Given the description of an element on the screen output the (x, y) to click on. 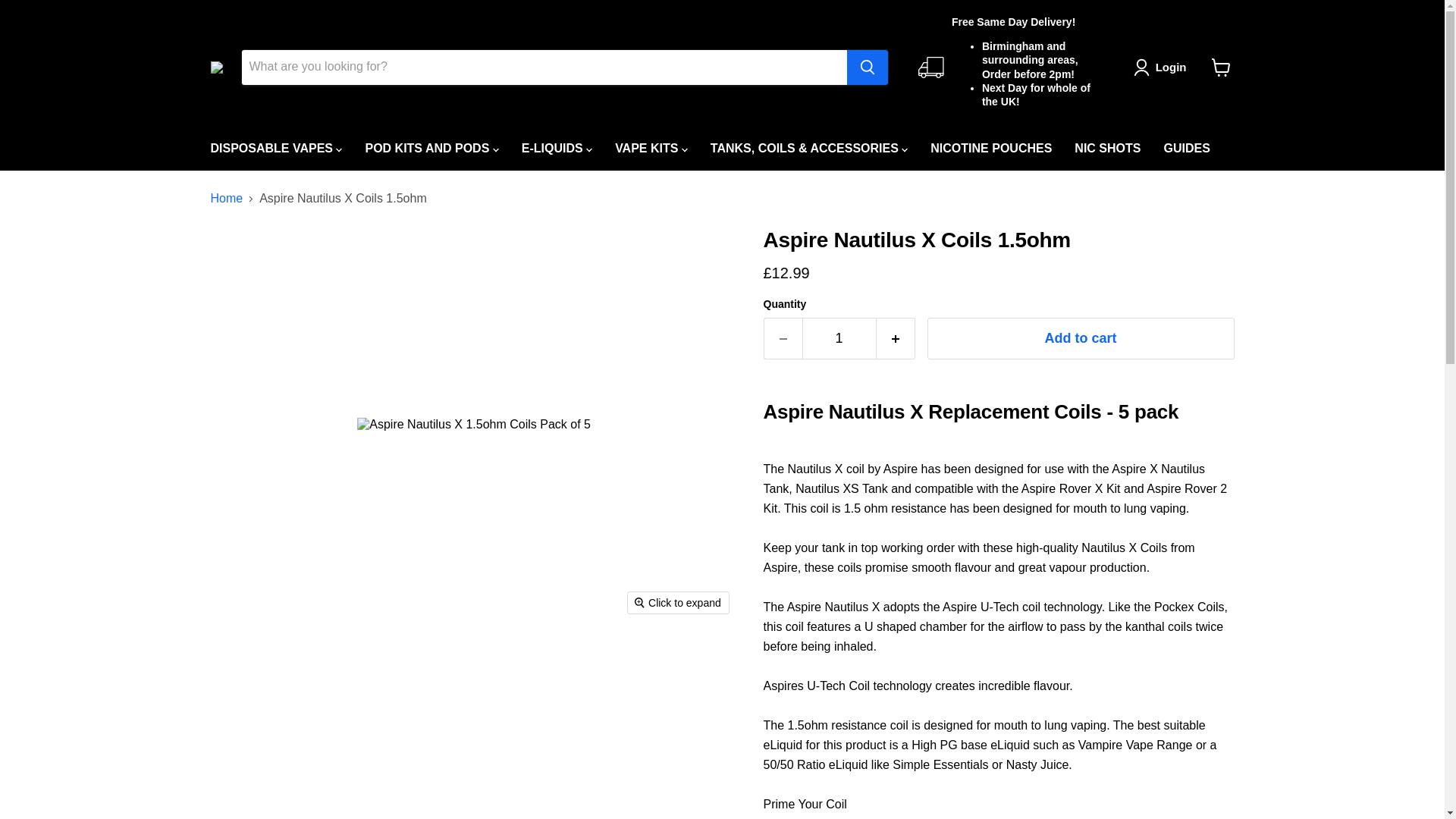
1 (839, 338)
Login (1163, 67)
View cart (1221, 67)
